Given the description of an element on the screen output the (x, y) to click on. 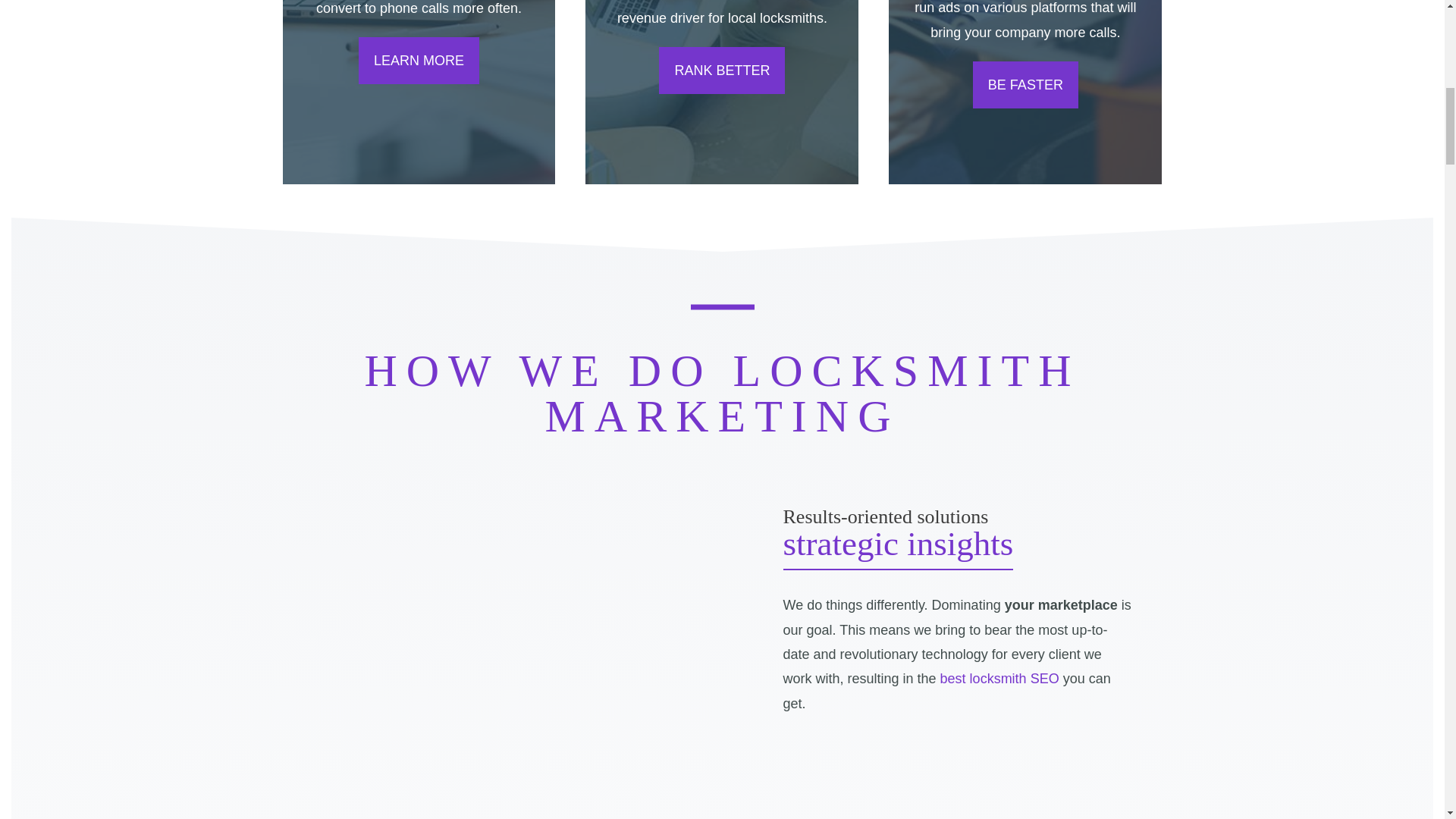
BE FASTER (1025, 84)
best locksmith SEO (999, 678)
LEARN MORE (418, 60)
RANK BETTER (721, 70)
